Given the description of an element on the screen output the (x, y) to click on. 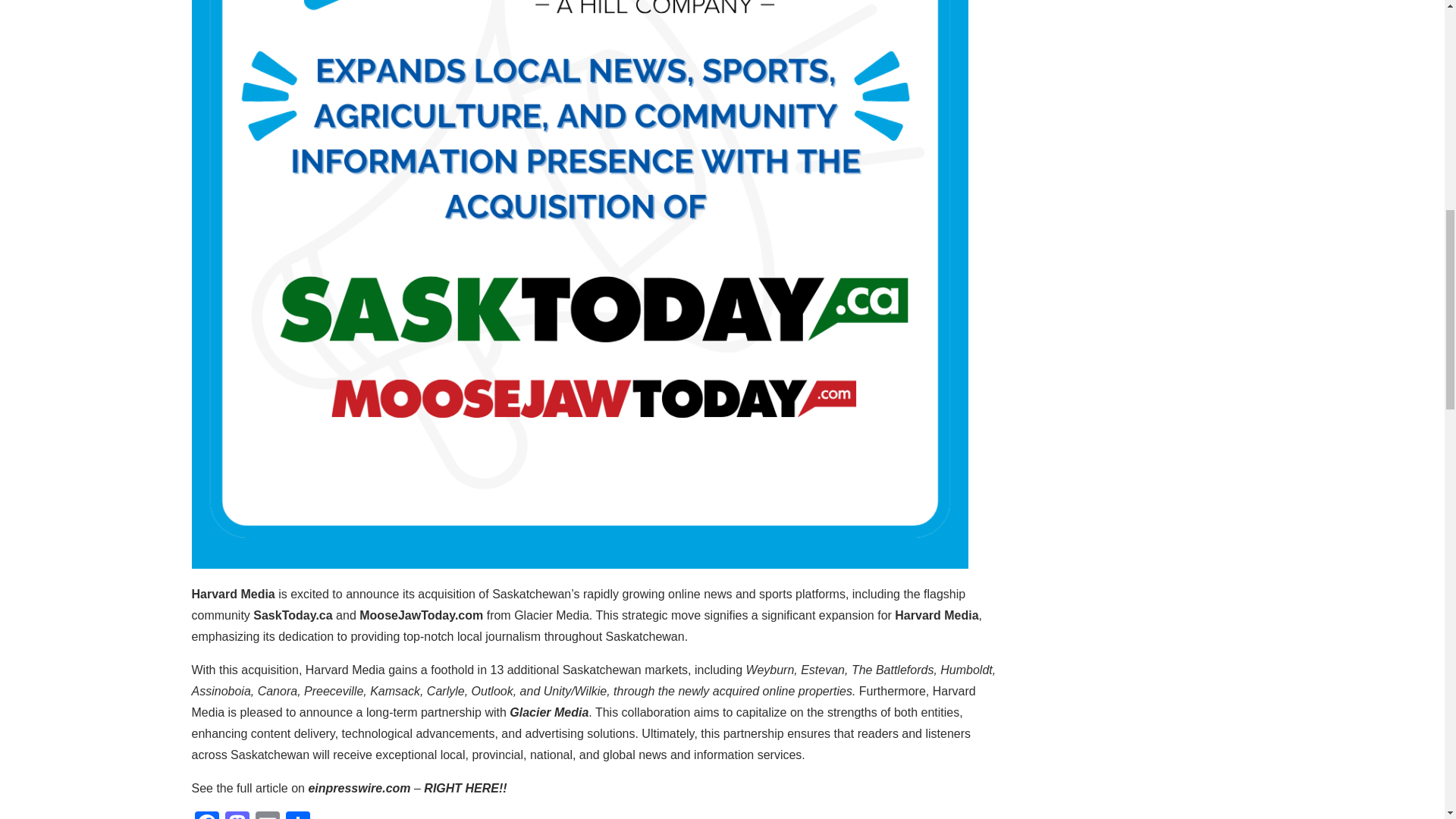
Facebook (205, 815)
Mastodon (236, 815)
Email (266, 815)
